Given the description of an element on the screen output the (x, y) to click on. 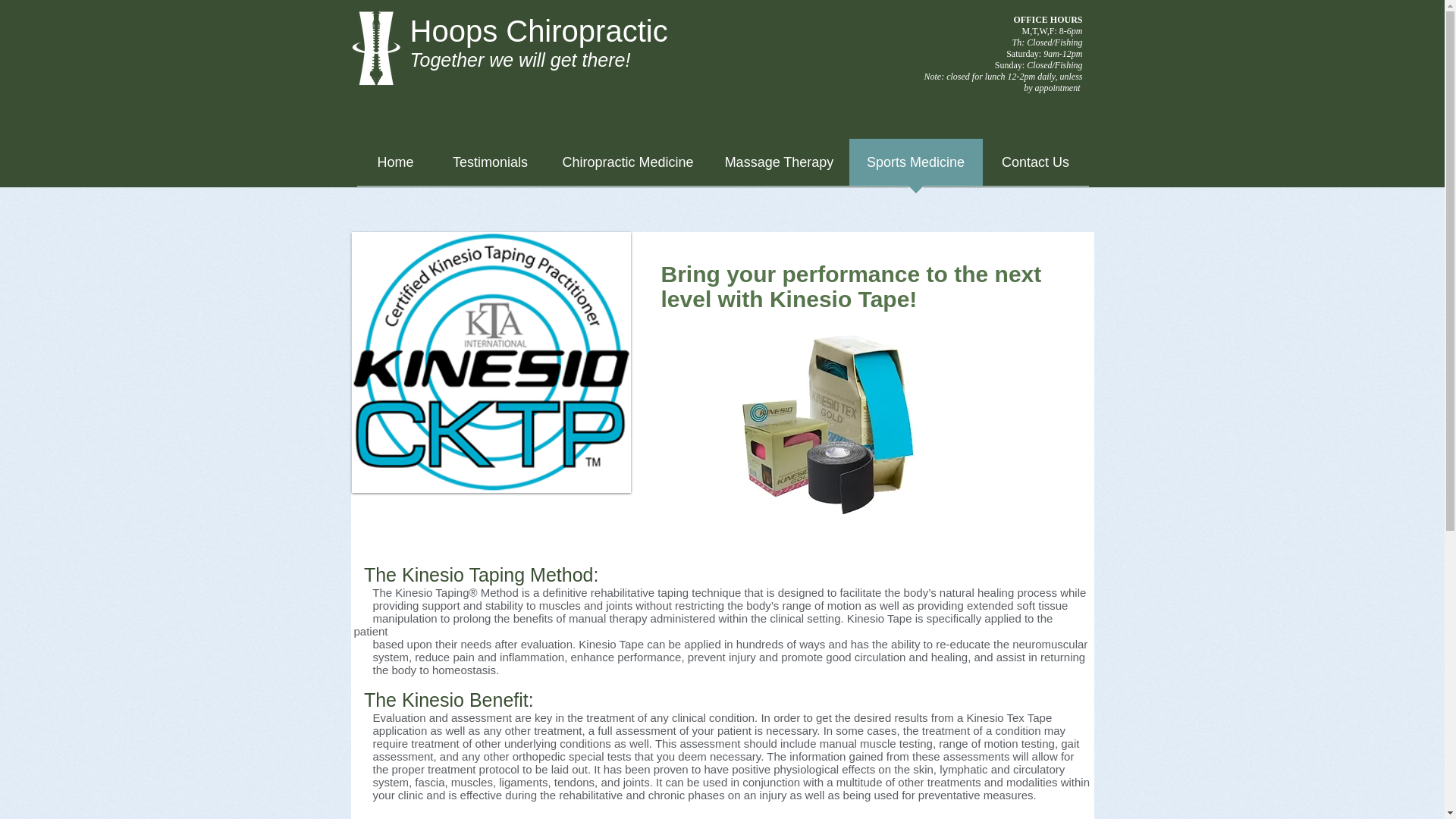
Chiropractic Medicine (627, 166)
Massage Therapy (779, 166)
Testimonials (489, 166)
Home (394, 166)
Contact Us (1035, 166)
Sports Medicine (915, 166)
